Given the description of an element on the screen output the (x, y) to click on. 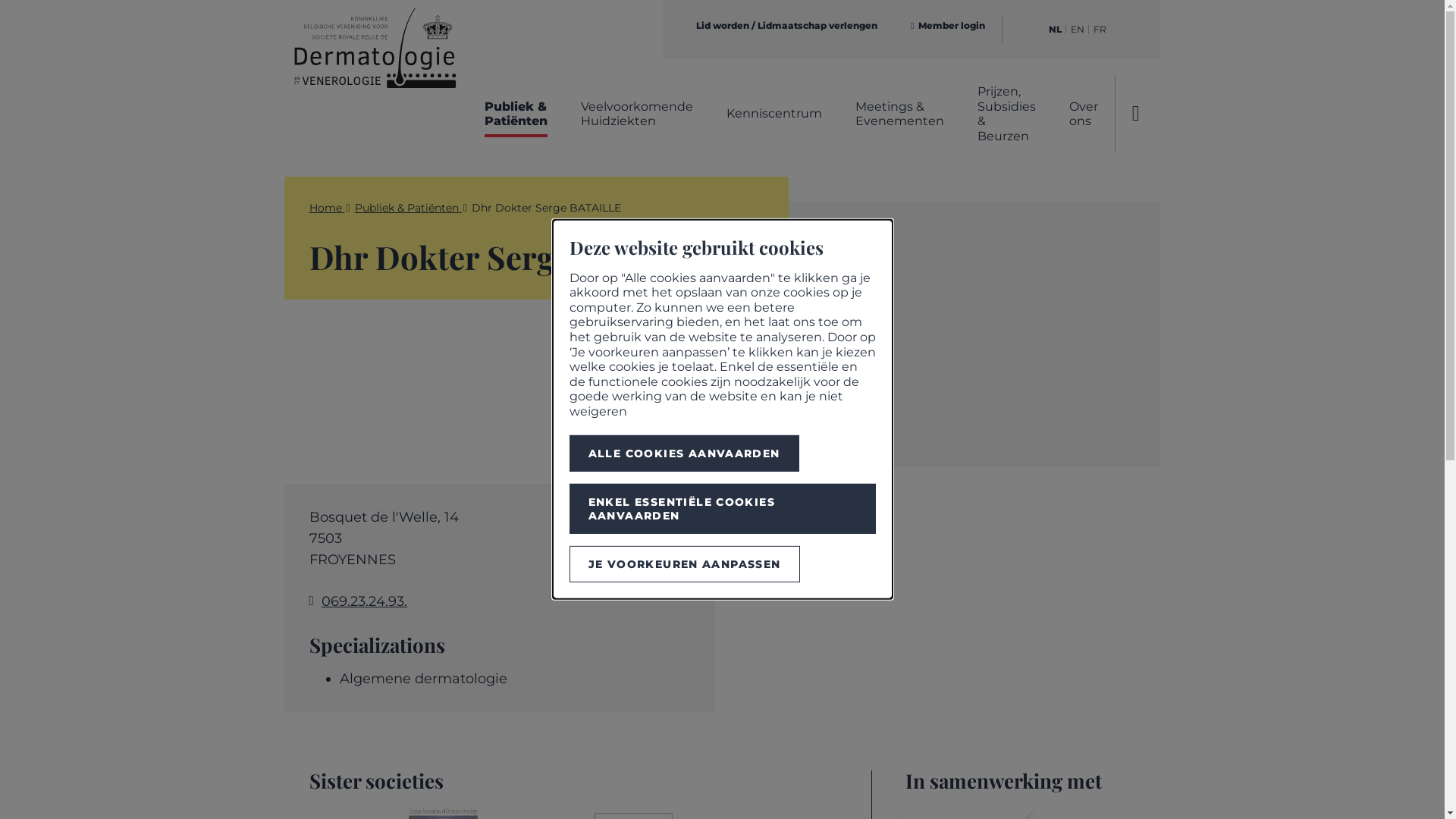
Lid worden / Lidmaatschap verlengen Element type: text (786, 25)
Meetings & Evenementen Element type: text (899, 114)
069.23.24.93. Element type: text (364, 601)
 Member login Element type: text (947, 25)
Over ons Element type: text (1083, 114)
Dhr Dokter Serge BATAILLE Element type: text (546, 207)
Kenniscentrum Element type: text (774, 113)
Zoeken Element type: text (1138, 113)
FR Element type: text (1099, 29)
Veelvoorkomende Huidziekten Element type: text (636, 114)
Prijzen, Subsidies & Beurzen Element type: text (1006, 113)
EN Element type: text (1077, 29)
NL Element type: text (1054, 29)
Home Element type: text (327, 207)
ALLE COOKIES AANVAARDEN Element type: text (683, 453)
JE VOORKEUREN AANPASSEN Element type: text (683, 564)
